Given the description of an element on the screen output the (x, y) to click on. 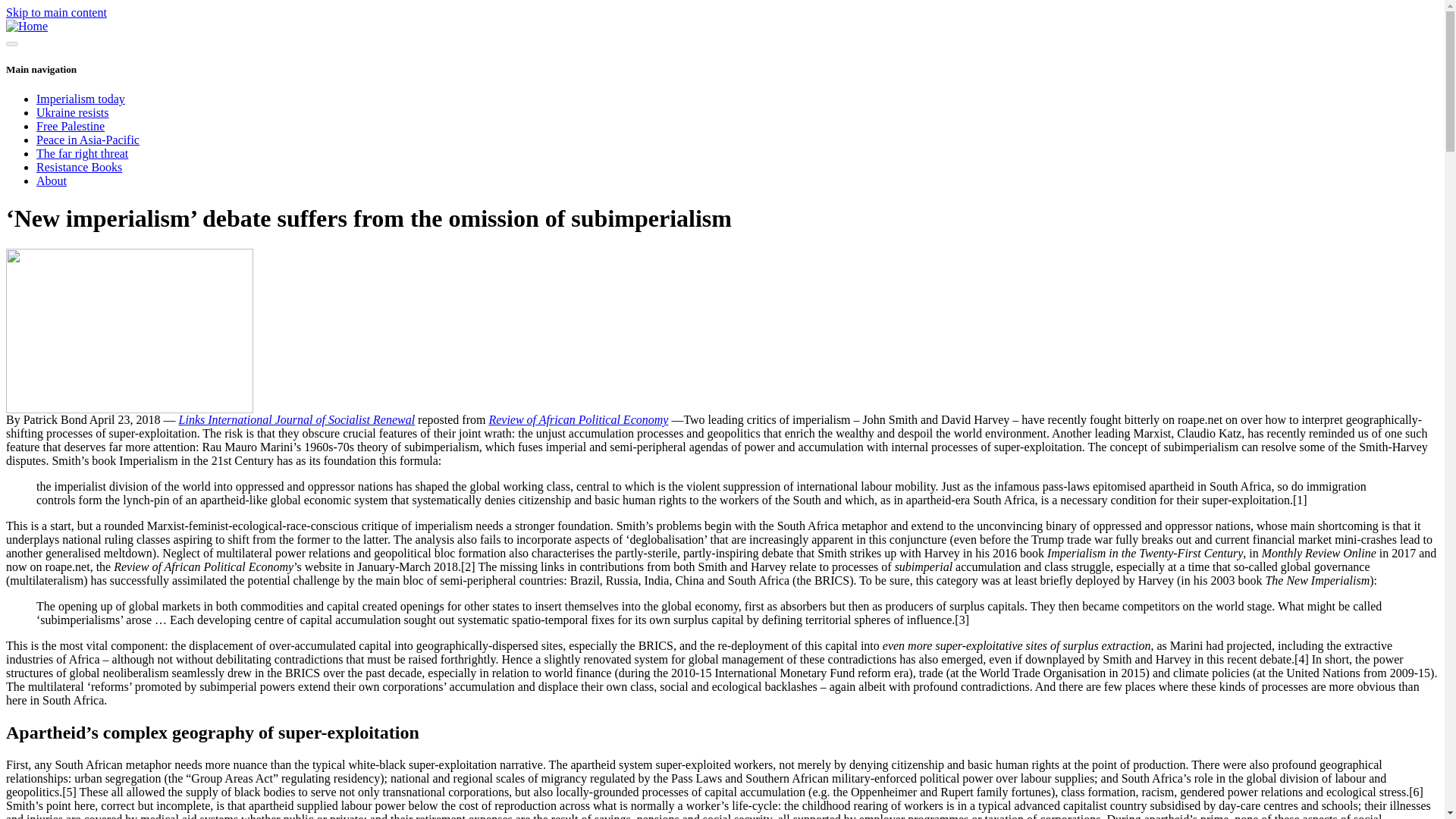
The far right threat (82, 153)
Links International Journal of Socialist Renewal (296, 419)
Free Palestine (70, 125)
Home (26, 25)
Imperialism today (80, 98)
Peace in Asia-Pacific (87, 139)
Review of African Political Economy (577, 419)
About (51, 180)
About (51, 180)
Resistance Books (79, 166)
Understanding Putin's war on Ukraine (72, 112)
Ukraine resists (72, 112)
Resistance Books (79, 166)
Skip to main content (55, 11)
